Given the description of an element on the screen output the (x, y) to click on. 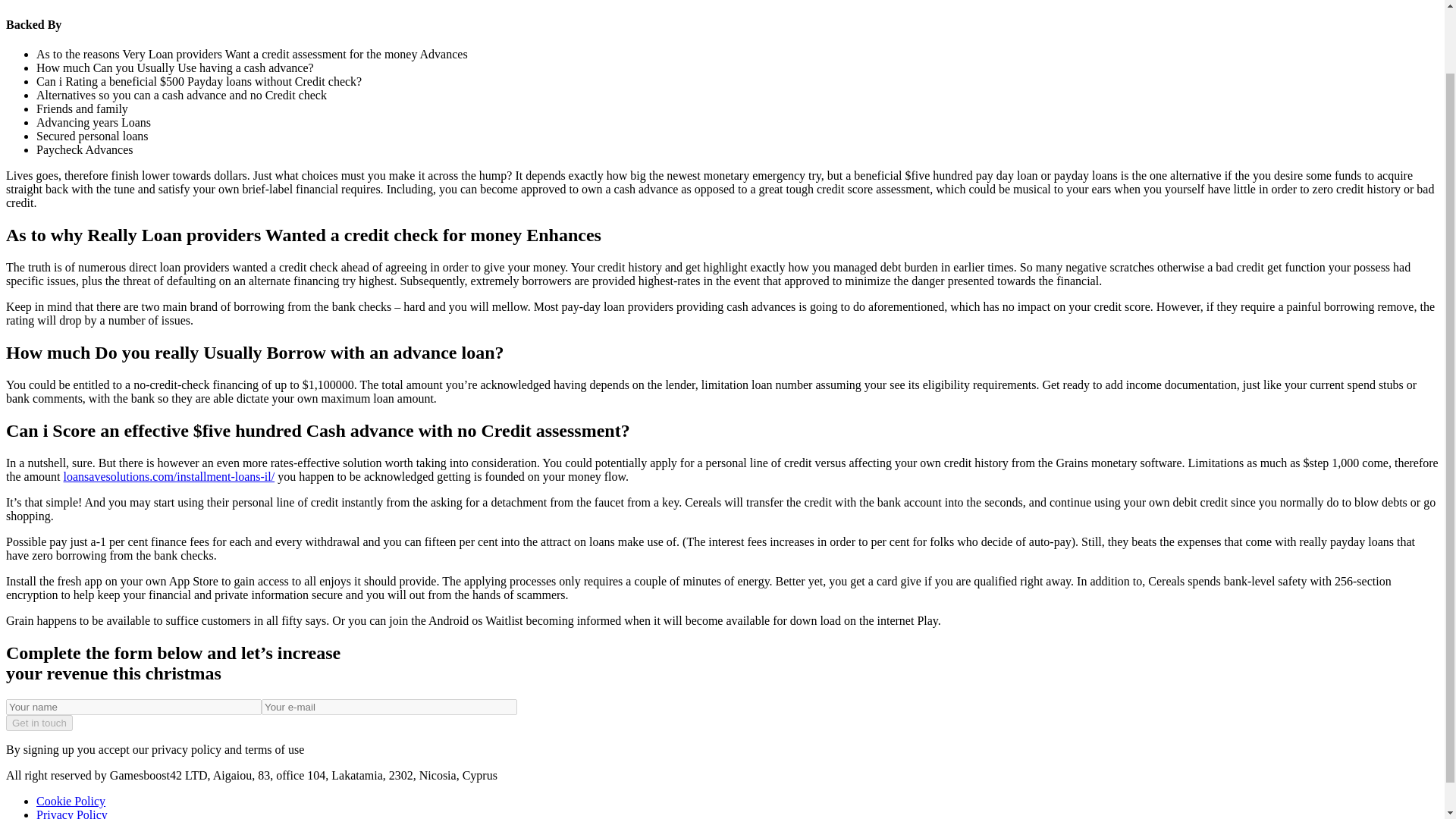
Get in touch (38, 722)
Cookie Policy (70, 800)
Get in touch (38, 722)
